Given the description of an element on the screen output the (x, y) to click on. 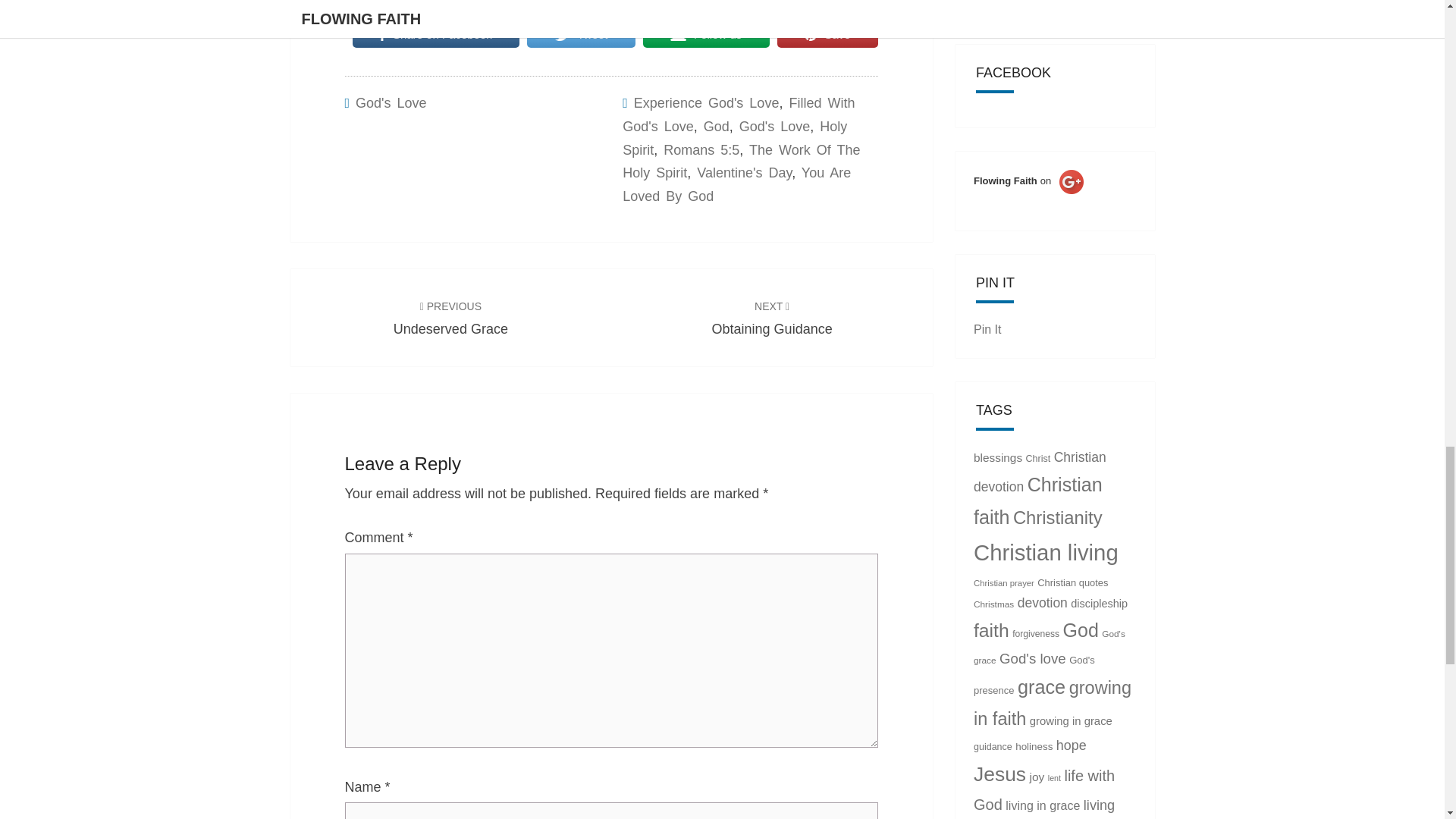
Christianity (1057, 516)
Romans 5:5 (701, 150)
You Are Loved By God (736, 184)
The Work Of The Holy Spirit (741, 161)
Valentine'S Day (744, 172)
Save (827, 34)
Experience God'S Love (705, 102)
Christ (1038, 458)
Christian devotion (1040, 471)
God'S Love (390, 102)
Follow us (706, 34)
blessings (998, 456)
Pin It (771, 317)
God'S Love (987, 328)
